Given the description of an element on the screen output the (x, y) to click on. 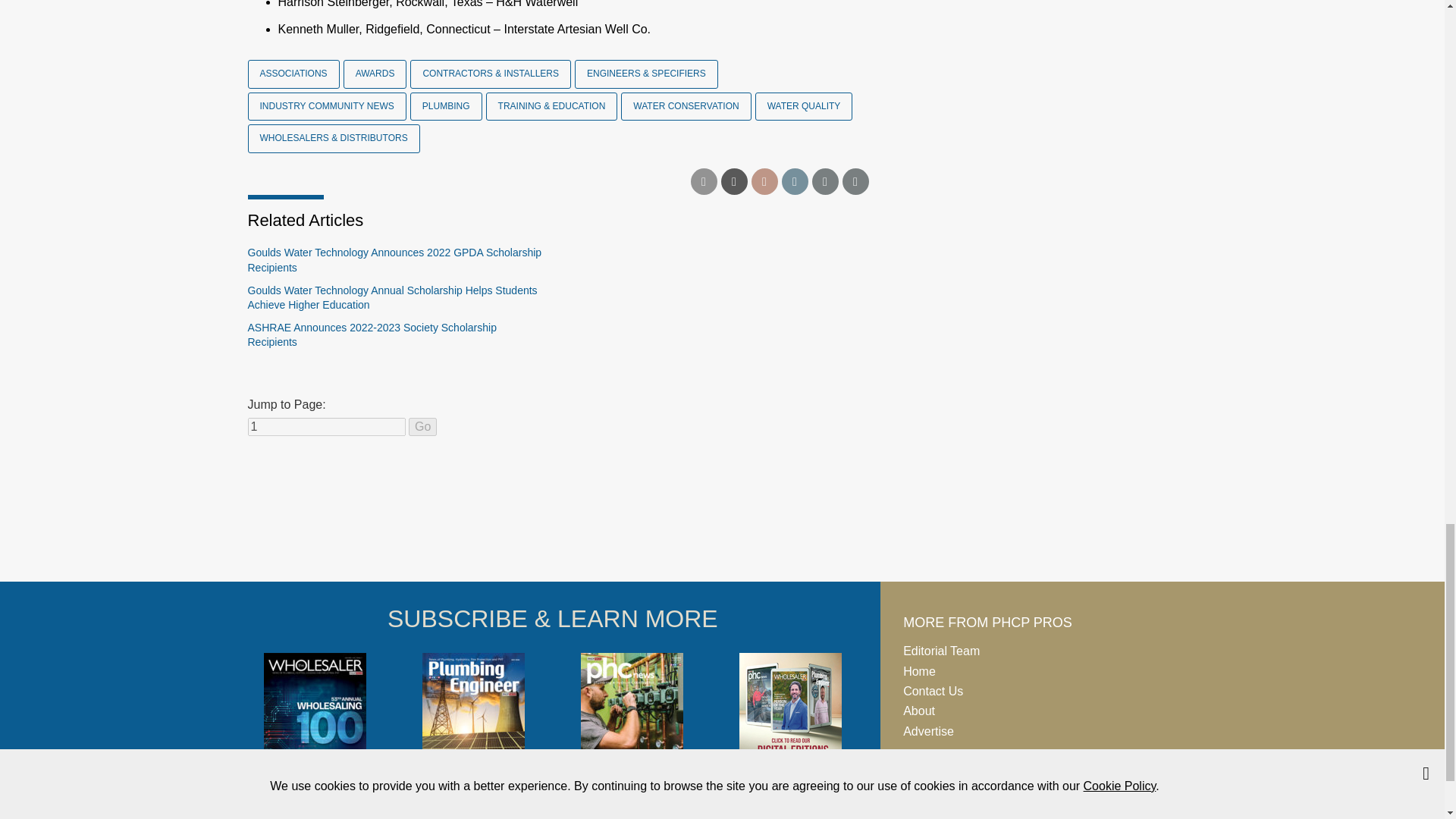
1 (325, 426)
3rd party ad content (721, 524)
Go (422, 426)
